Given the description of an element on the screen output the (x, y) to click on. 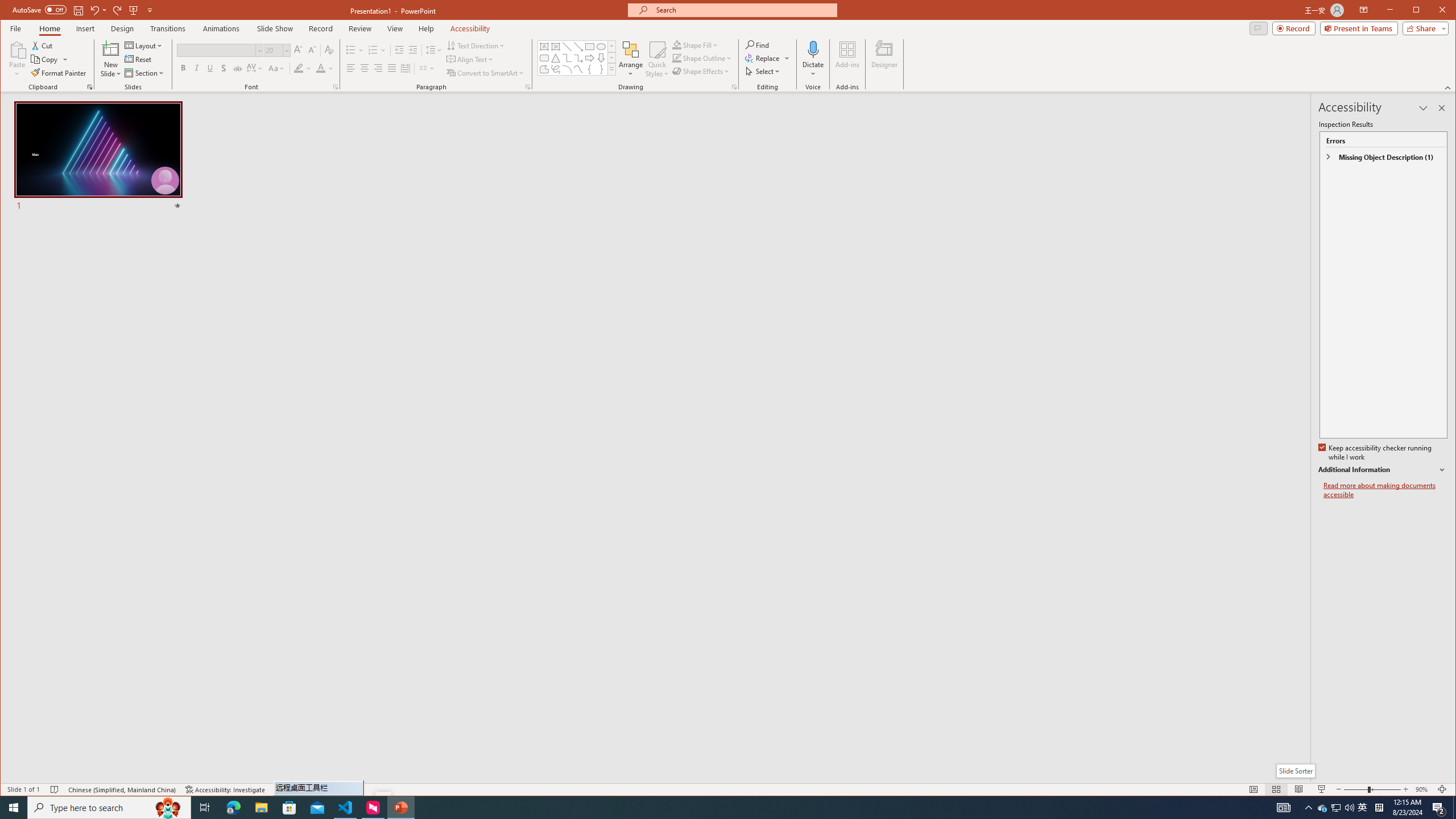
Line (567, 46)
Arrow: Down (601, 57)
Tray Input Indicator - Chinese (Simplified, China) (1378, 807)
Rectangle: Rounded Corners (544, 57)
